Given the description of an element on the screen output the (x, y) to click on. 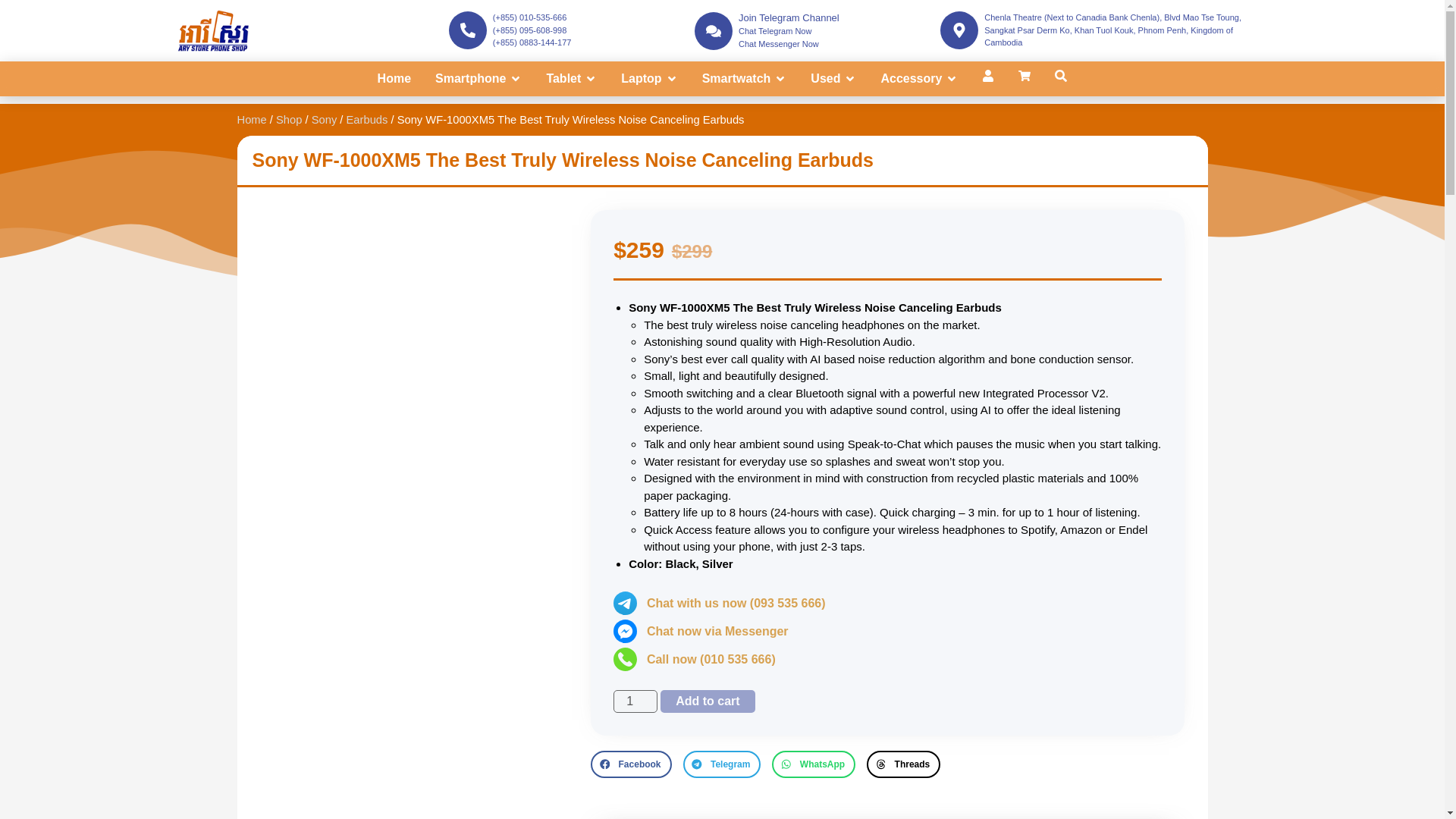
Join Telegram Channel (789, 17)
Chat Telegram Now (774, 31)
Home (393, 78)
Chat Messenger Now (778, 43)
1 (635, 701)
